Given the description of an element on the screen output the (x, y) to click on. 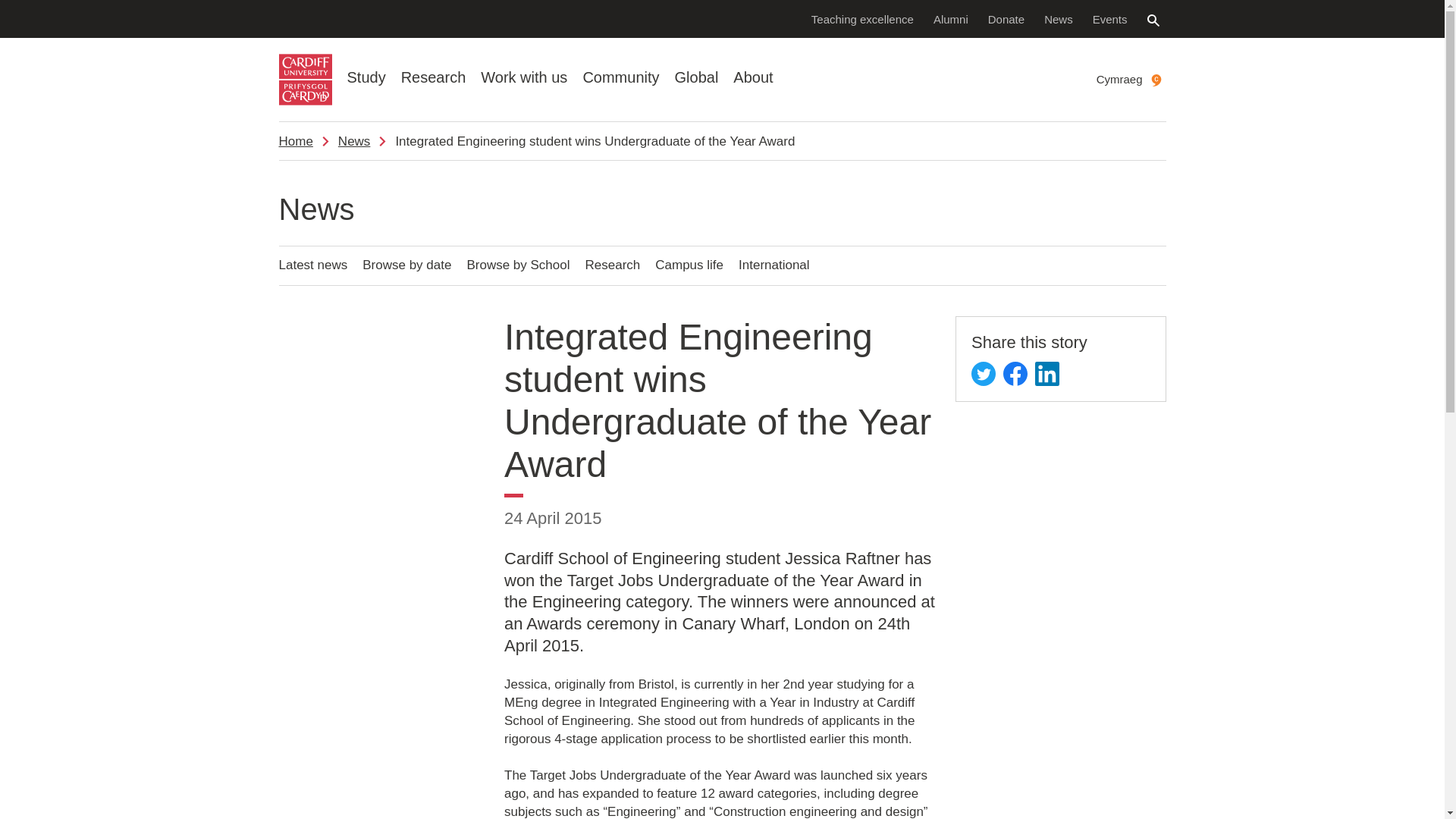
facebook (1015, 373)
Cardiff University logo (305, 79)
LinkedIn (1047, 373)
Donate (1005, 19)
Events (1109, 19)
Search (1152, 20)
News (1058, 19)
Teaching excellence (862, 19)
Alumni (951, 19)
cymraeg (1155, 80)
